Given the description of an element on the screen output the (x, y) to click on. 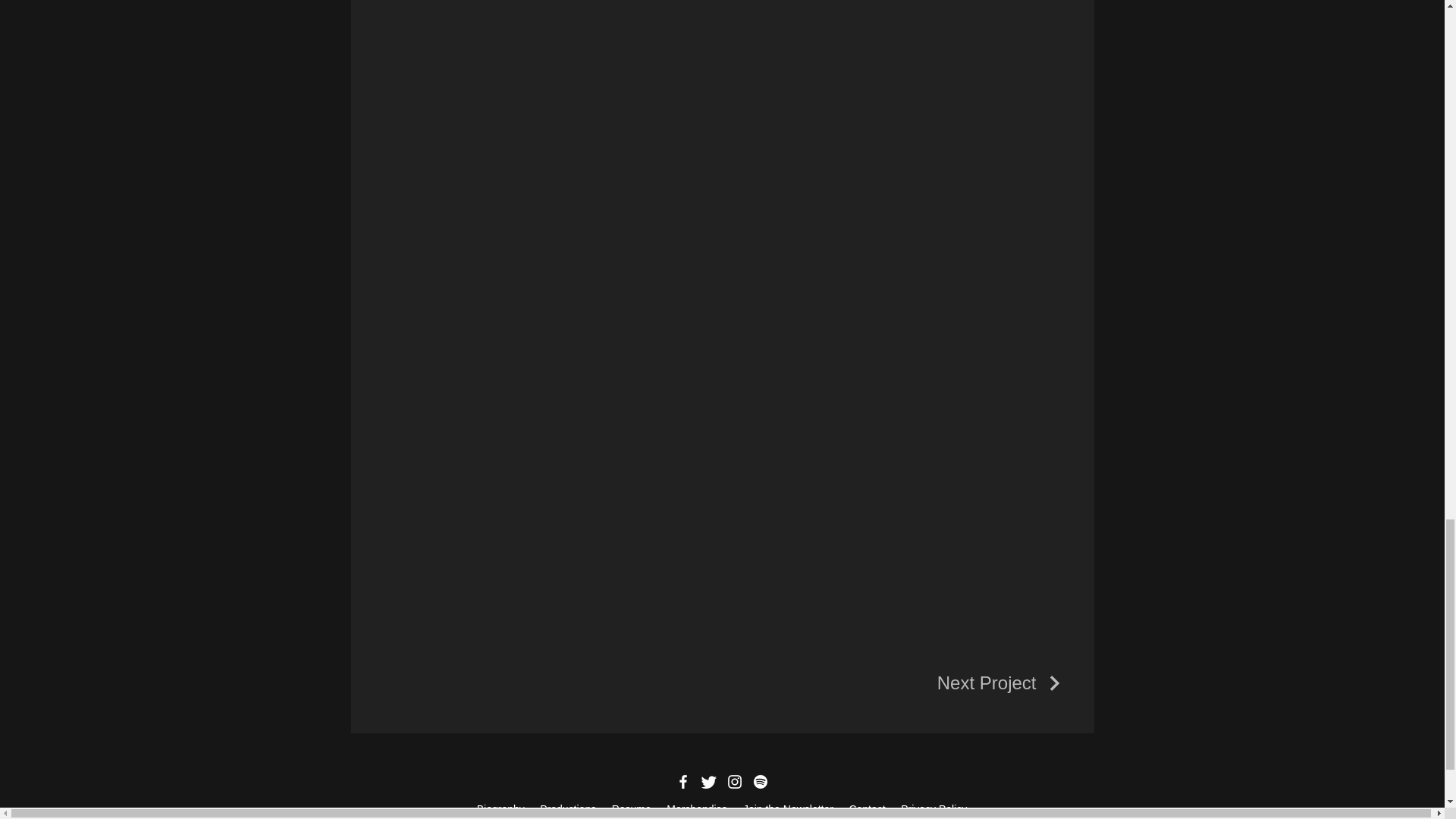
Join the Newsletter  (788, 808)
Next Project (1000, 682)
Productions (567, 808)
Biography (500, 808)
Privacy Policy (933, 808)
Resume  (632, 808)
Contact  (868, 808)
Merchandise (696, 808)
